Given the description of an element on the screen output the (x, y) to click on. 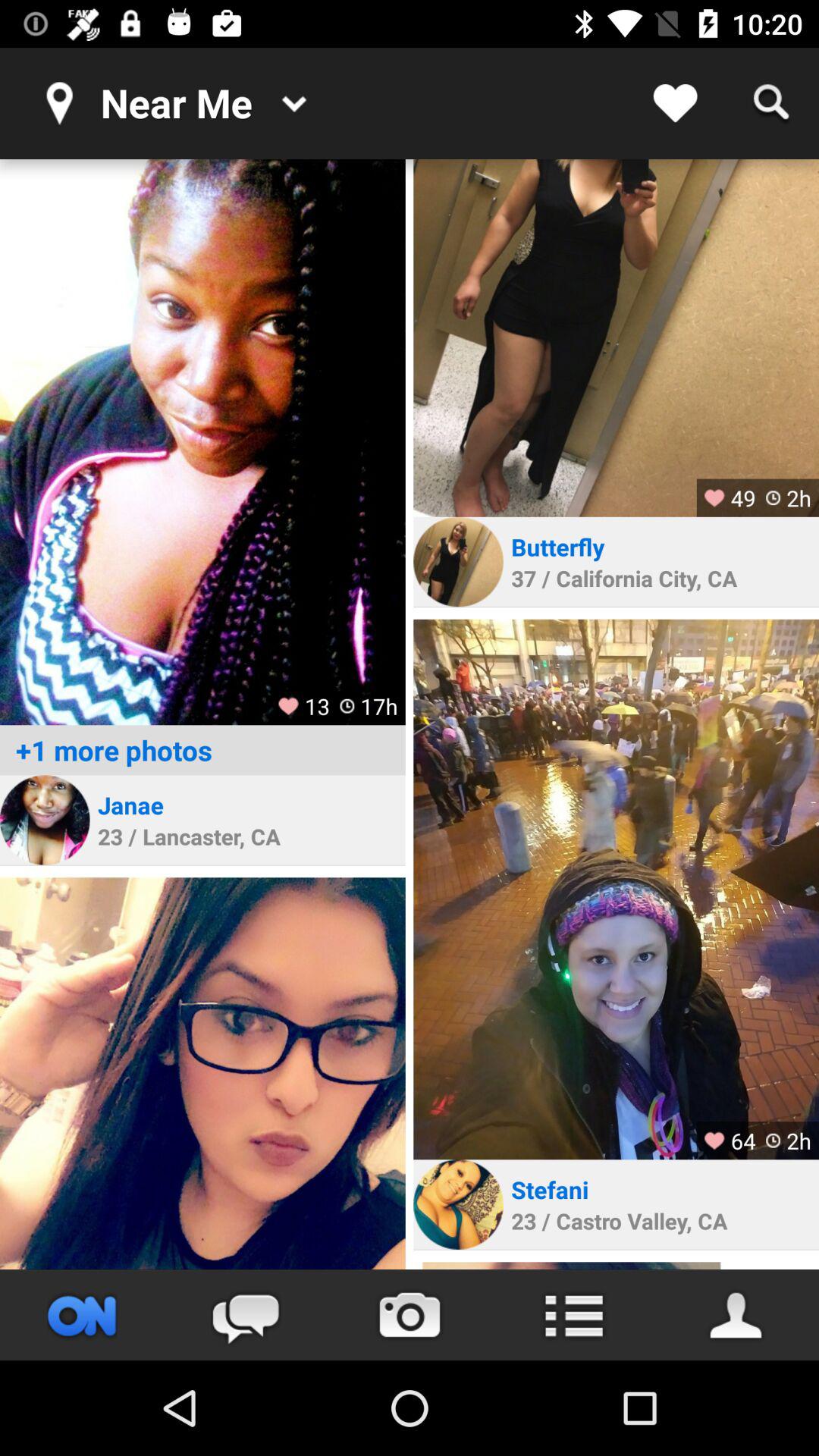
selects a persons page (44, 820)
